Given the description of an element on the screen output the (x, y) to click on. 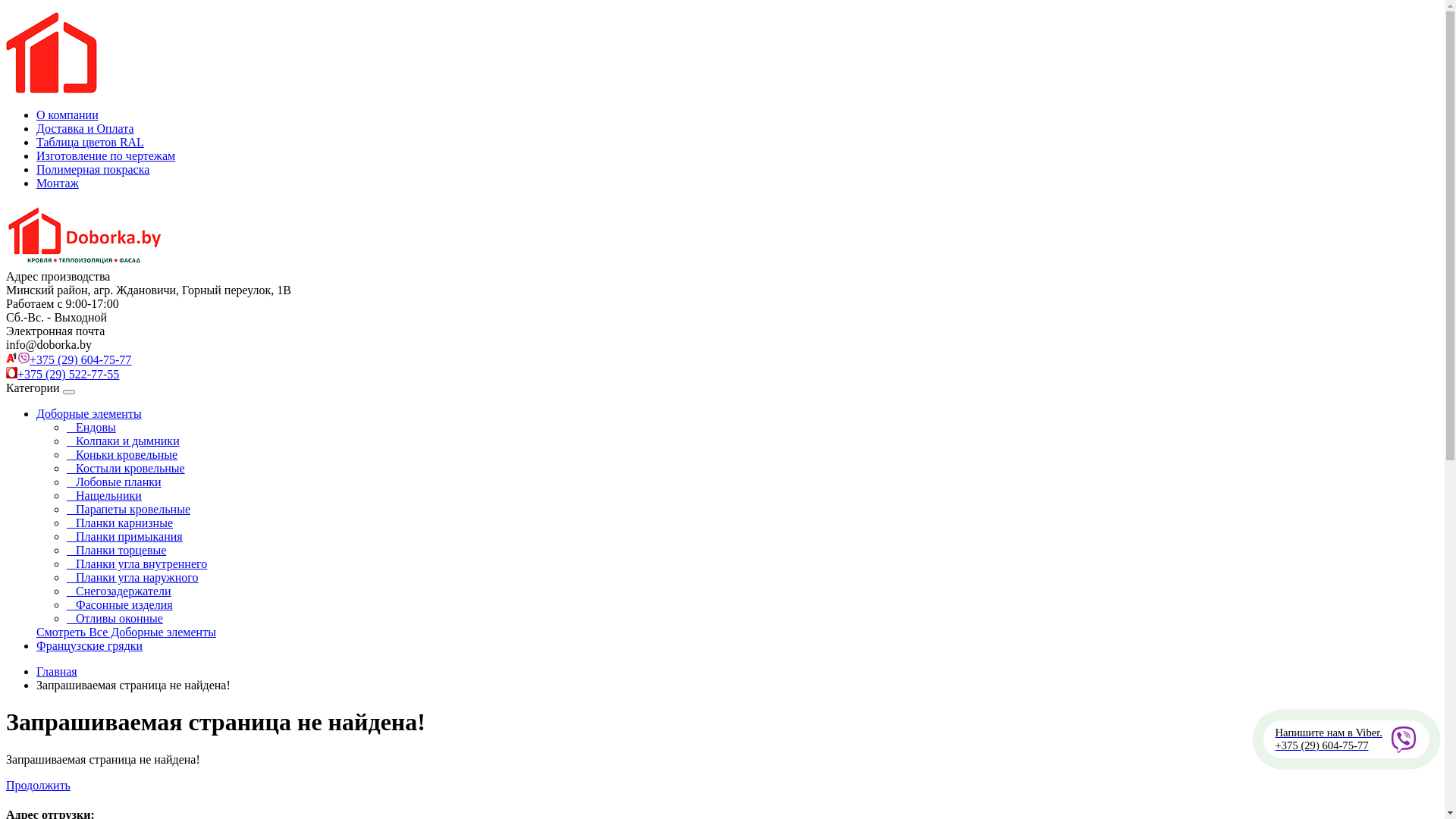
+375 (29) 604-75-77 Element type: text (68, 359)
+375 (29) 522-77-55 Element type: text (62, 373)
Doborka.by Element type: hover (85, 234)
